Given the description of an element on the screen output the (x, y) to click on. 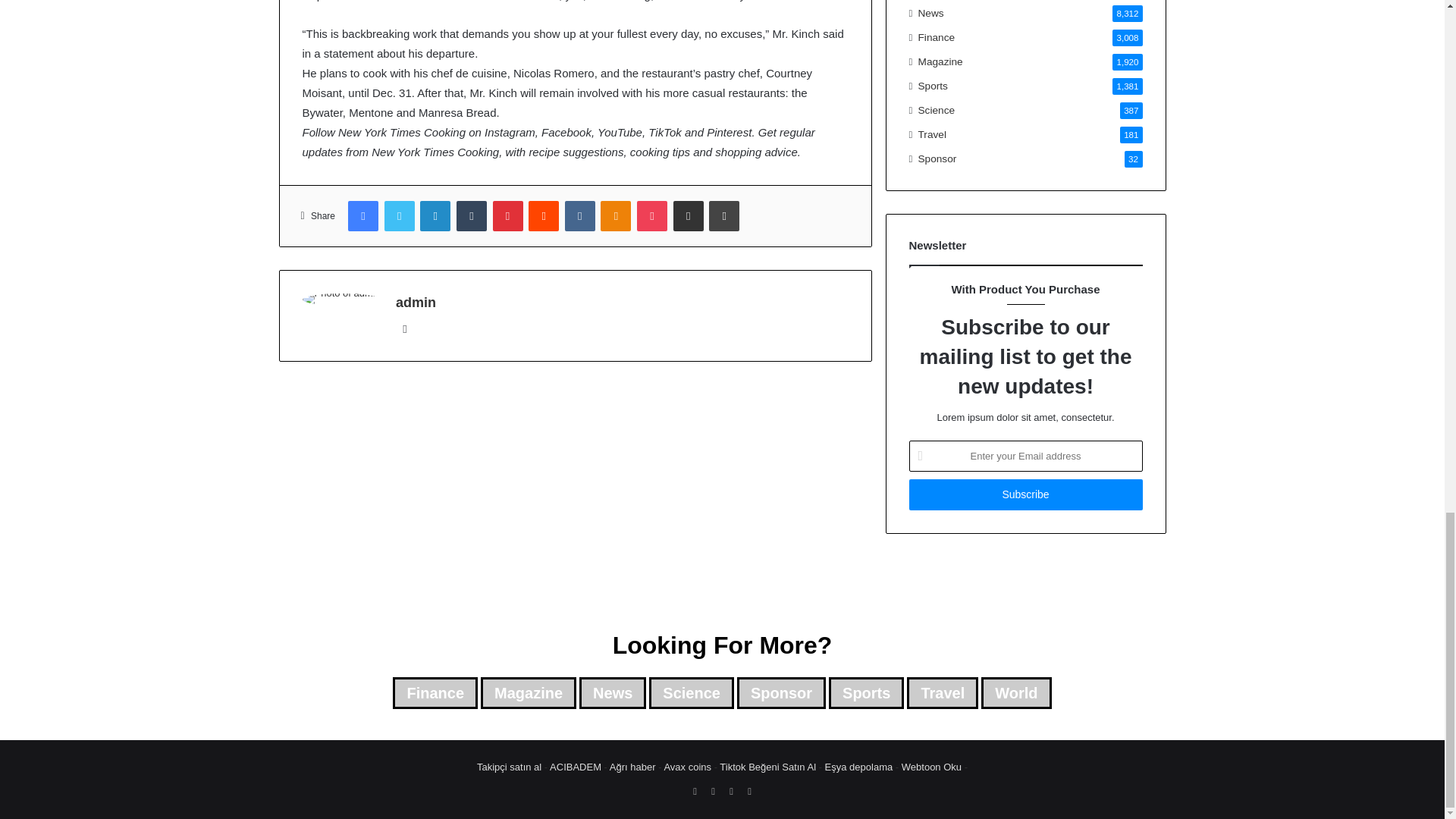
Subscribe (1025, 494)
